Given the description of an element on the screen output the (x, y) to click on. 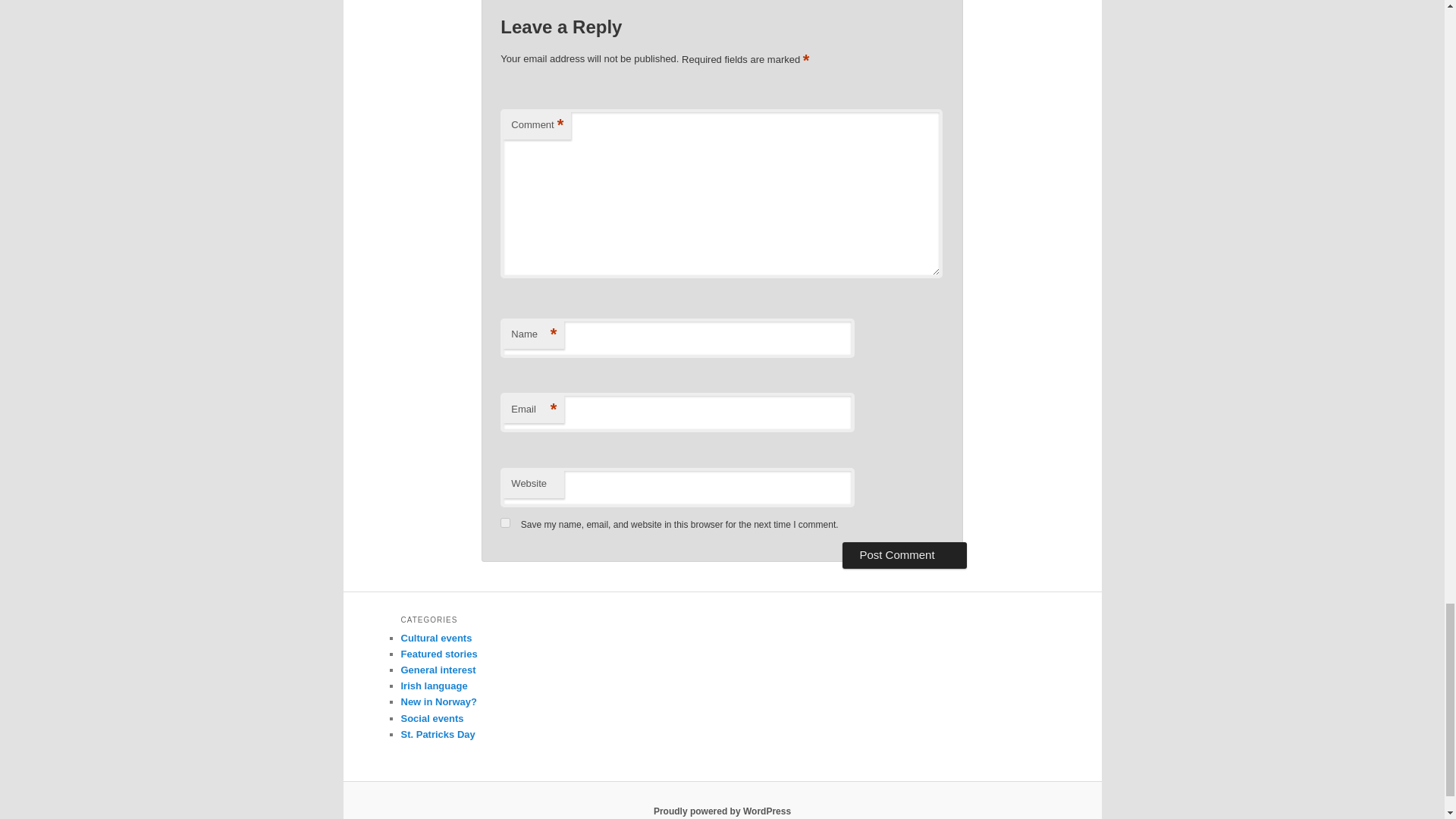
General interest (438, 669)
yes (505, 522)
Semantic Personal Publishing Platform (721, 810)
Post Comment (904, 555)
Post Comment (904, 555)
Featured stories (438, 654)
Cultural events (435, 637)
